Given the description of an element on the screen output the (x, y) to click on. 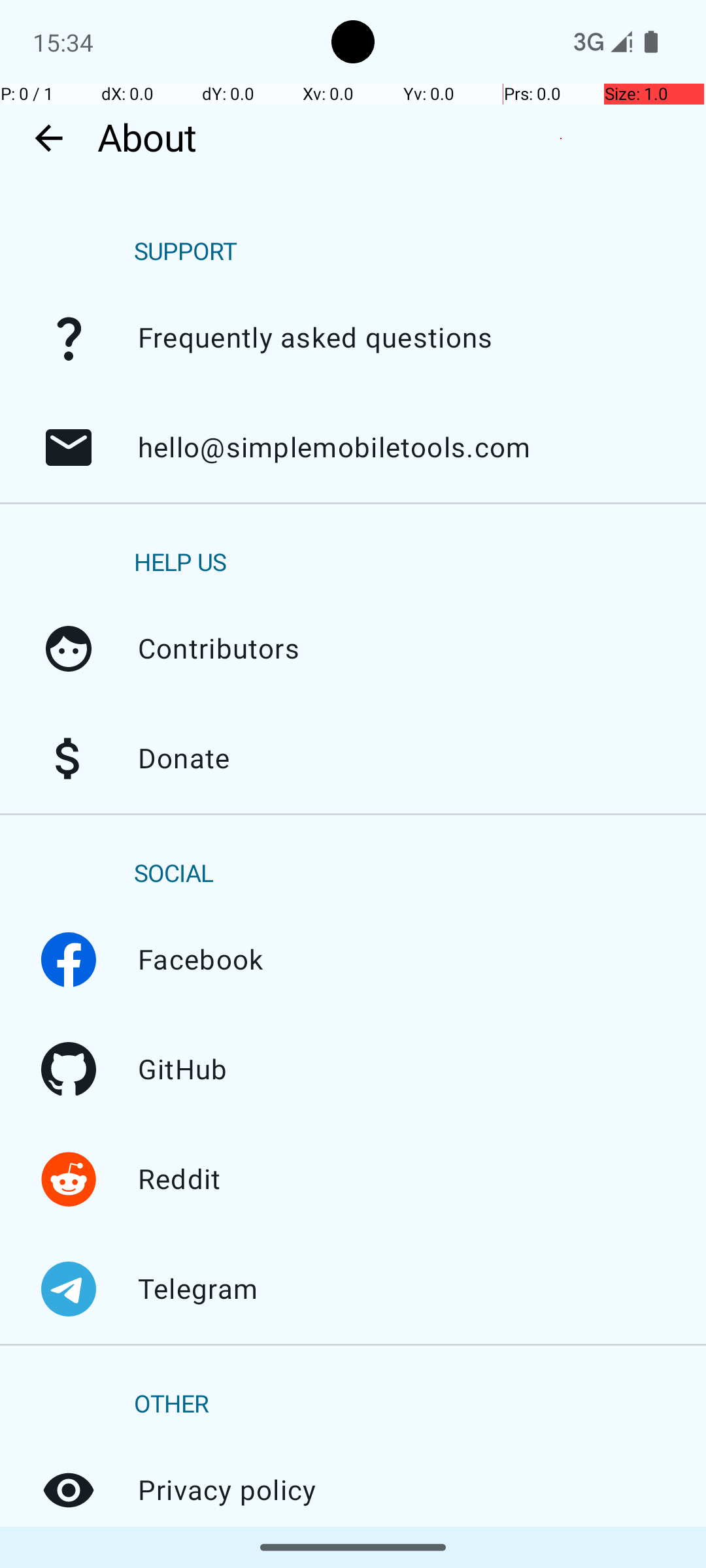
SUPPORT Element type: android.widget.TextView (185, 251)
HELP US Element type: android.widget.TextView (180, 562)
SOCIAL Element type: android.widget.TextView (173, 873)
OTHER Element type: android.widget.TextView (171, 1404)
Frequently asked questions Element type: android.view.View (68, 337)
hello@simplemobiletools.com Element type: android.view.View (68, 447)
Donate Element type: android.view.View (68, 758)
GitHub Element type: android.view.View (68, 1069)
Reddit Element type: android.view.View (68, 1178)
Telegram Element type: android.view.View (68, 1288)
